Given the description of an element on the screen output the (x, y) to click on. 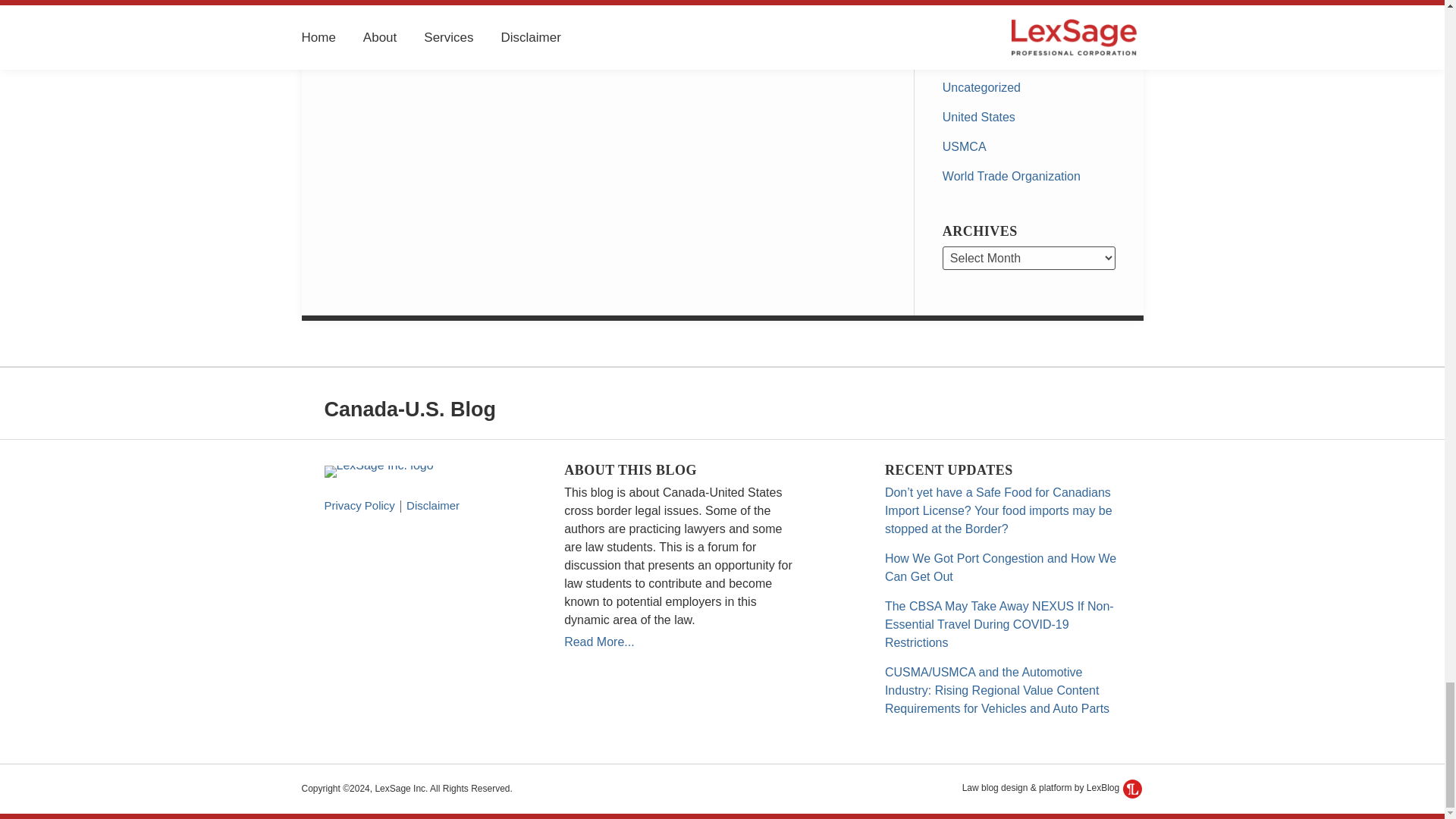
LexBlog Logo (1131, 788)
